Given the description of an element on the screen output the (x, y) to click on. 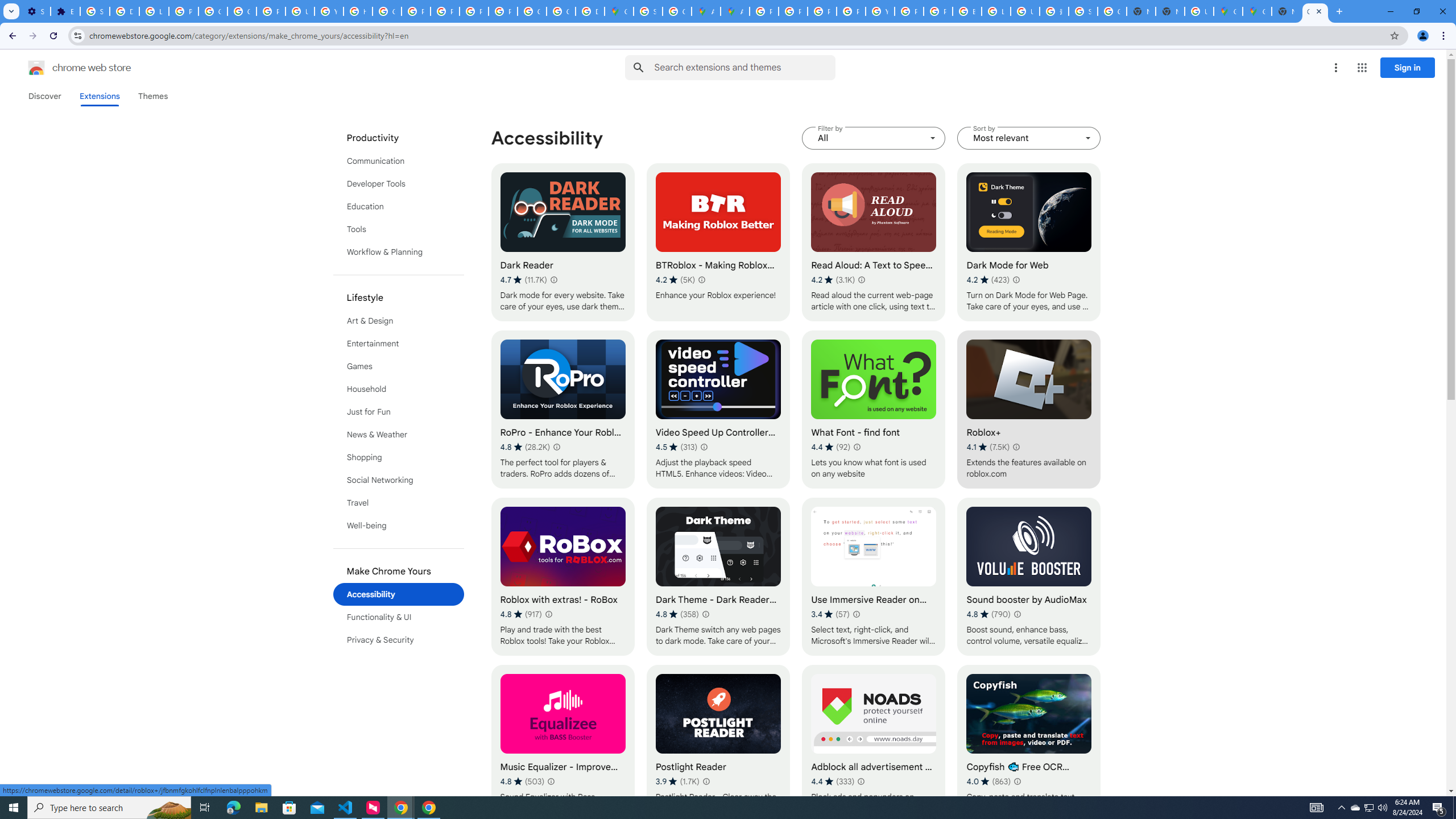
Average rating 4.8 out of 5 stars. 358 ratings. (676, 613)
Accessibility (selected) (398, 594)
Roblox+ (1028, 409)
Average rating 4.2 out of 5 stars. 423 ratings. (988, 279)
Functionality & UI (398, 617)
